Given the description of an element on the screen output the (x, y) to click on. 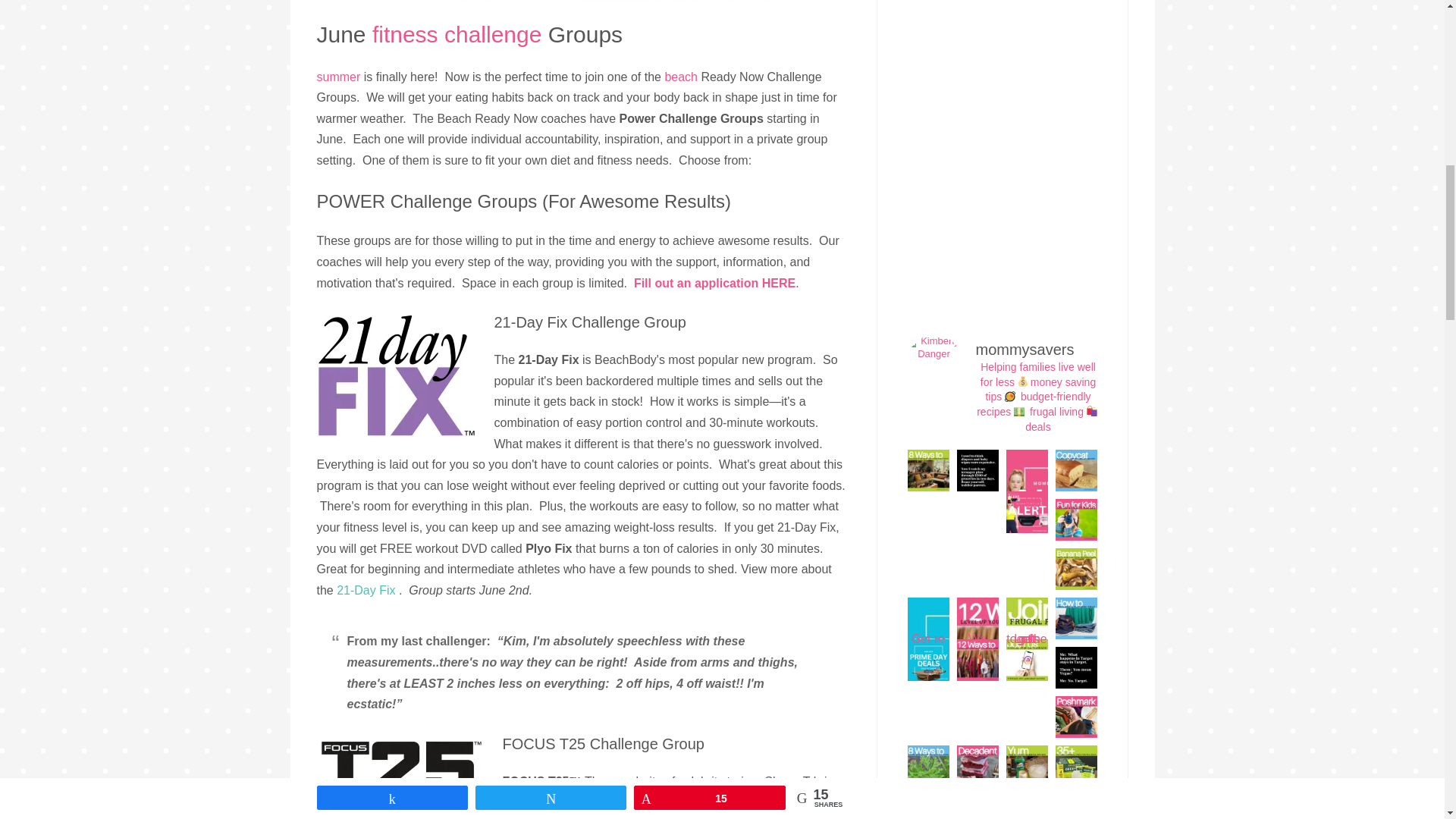
Posts tagged with summer (339, 76)
Posts tagged with fitness (405, 34)
Posts tagged with beach (680, 76)
Posts tagged with challenge (492, 34)
Advertisement (1001, 140)
21 Day Fix (396, 374)
